Given the description of an element on the screen output the (x, y) to click on. 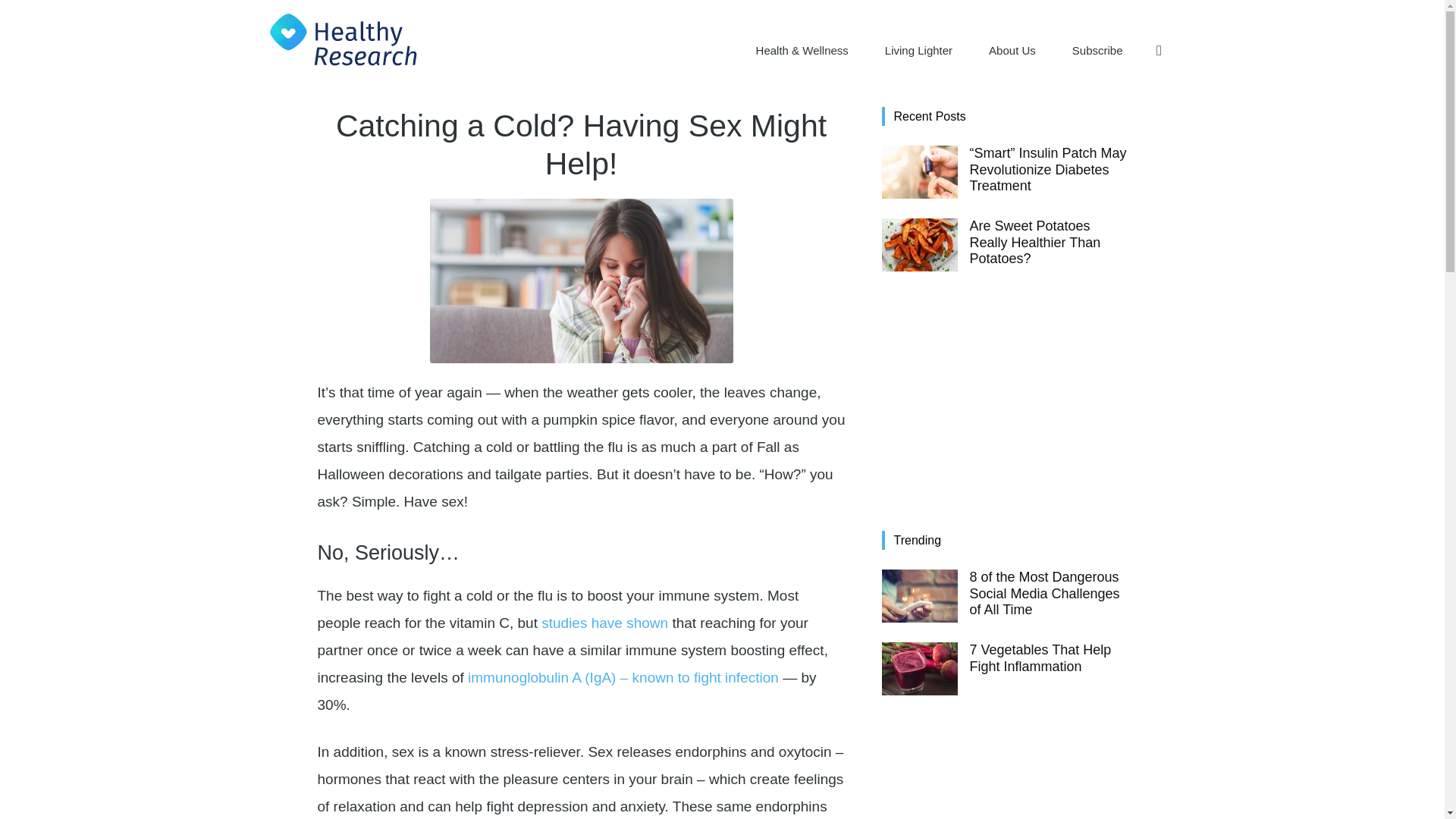
Subscribe (1097, 50)
catching a cold having sex might help (580, 281)
Search (1126, 122)
About Us (1012, 50)
Healthy Research (342, 39)
Living Lighter (918, 50)
studies have shown (604, 622)
